Given the description of an element on the screen output the (x, y) to click on. 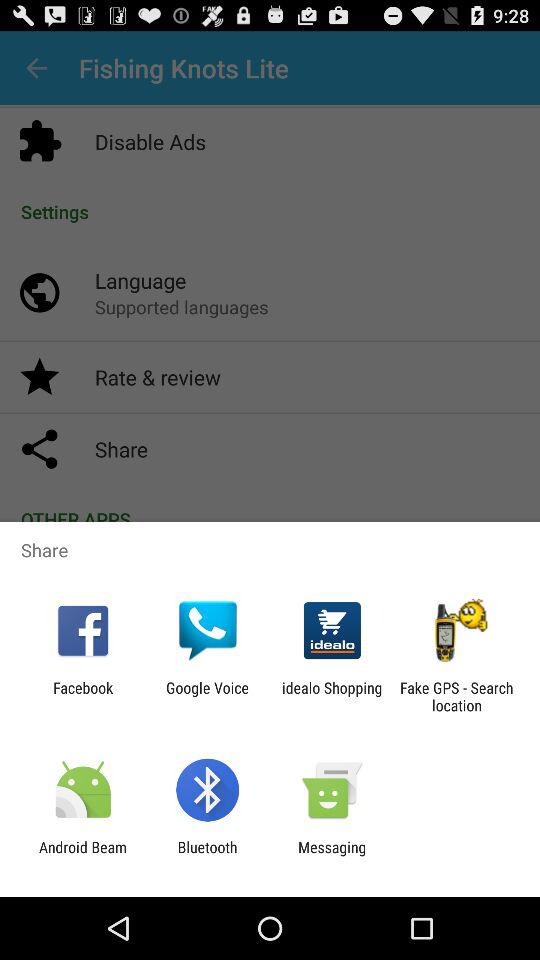
tap the google voice icon (207, 696)
